Given the description of an element on the screen output the (x, y) to click on. 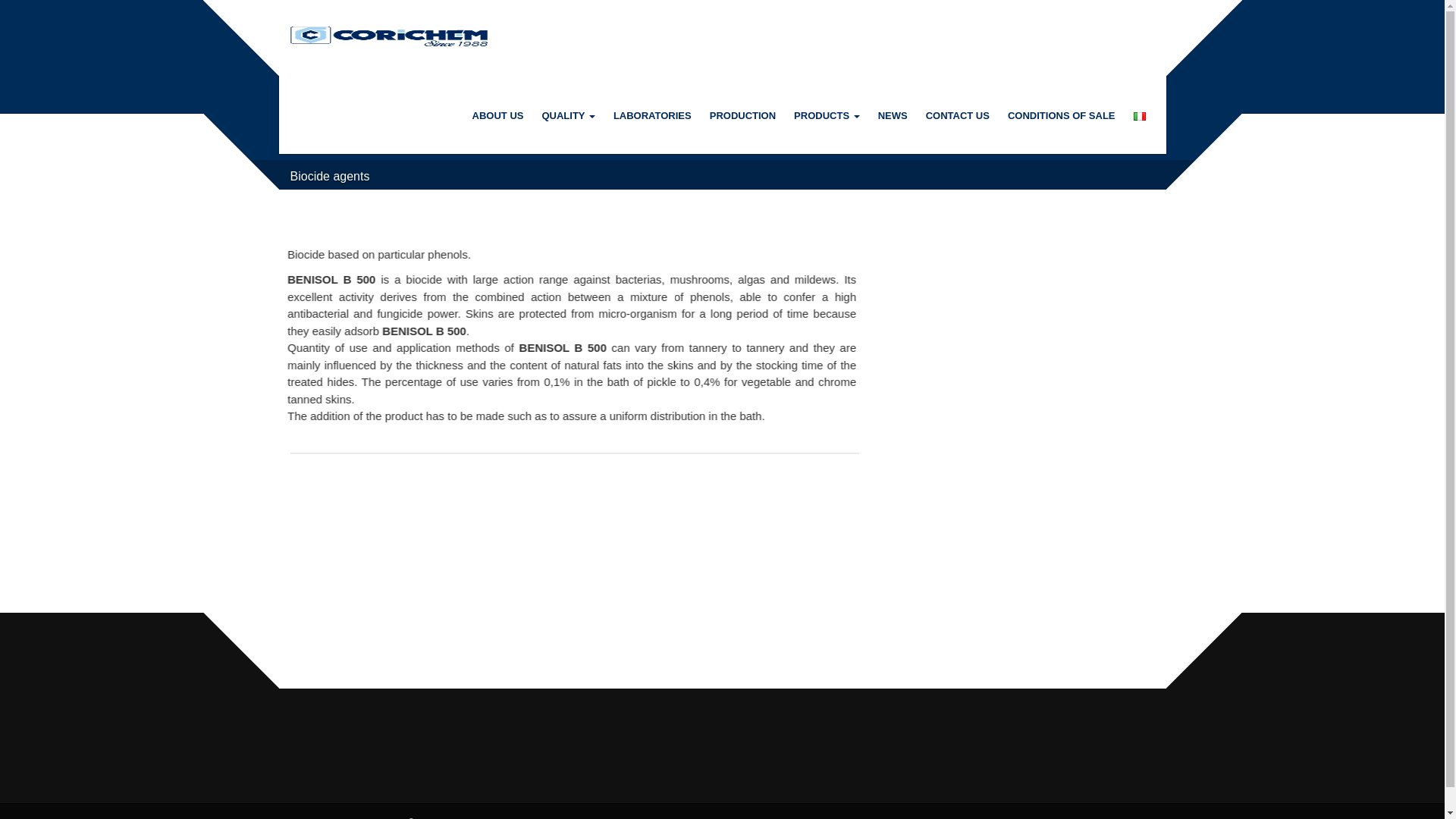
Informativa Privacy (994, 817)
QUALITY (568, 115)
PRODUCTS (826, 115)
LABORATORIES (652, 115)
Cookie Policy (914, 817)
PRODUCTION (742, 115)
ABOUT US (497, 115)
CONDITIONS OF SALE (1061, 115)
CONDITIONS OF SALE (1061, 115)
NEWS (893, 115)
